Given the description of an element on the screen output the (x, y) to click on. 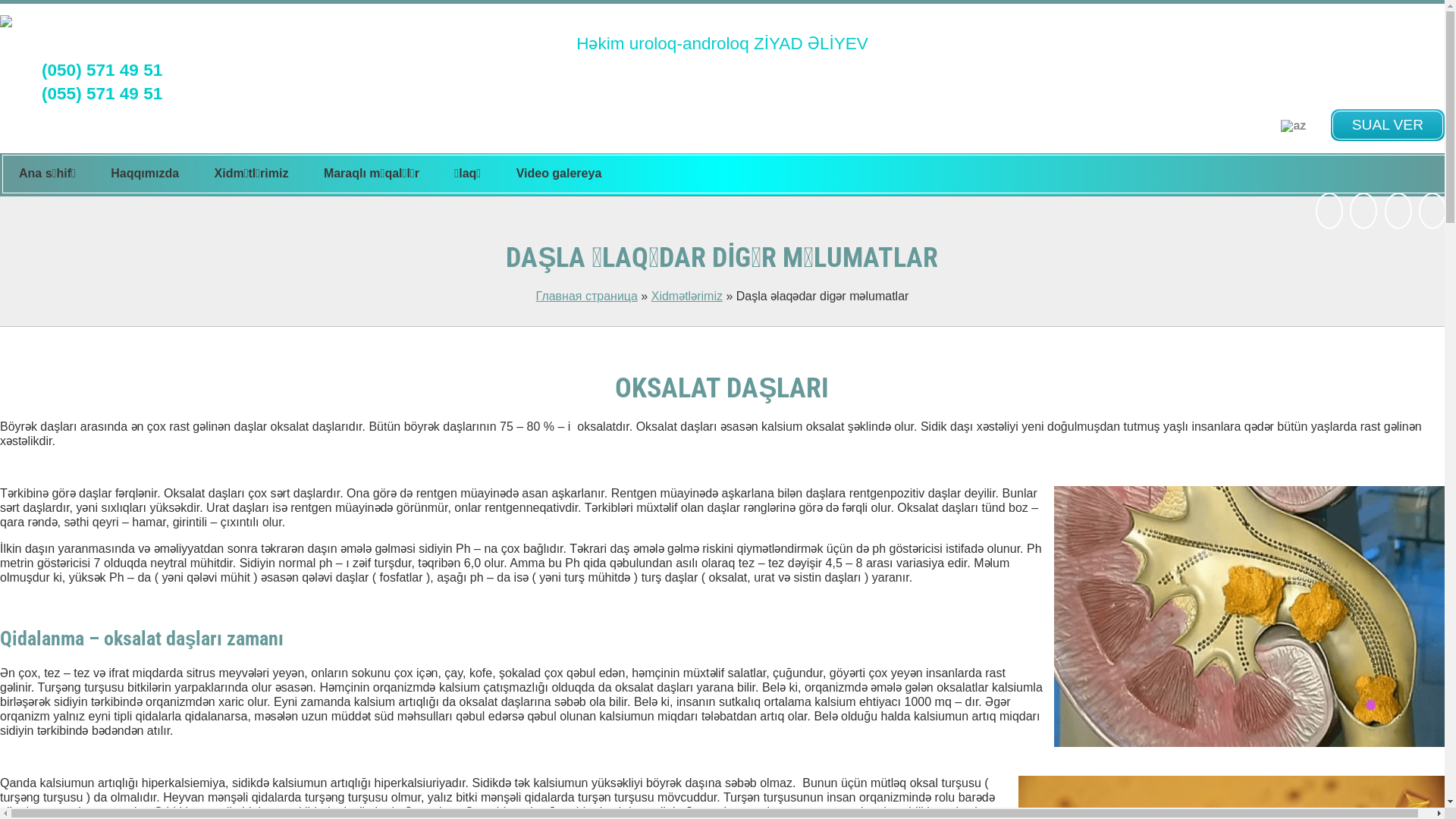
AZ Element type: hover (1292, 125)
Video galereya Element type: text (559, 174)
SUAL VER Element type: text (1387, 125)
